Given the description of an element on the screen output the (x, y) to click on. 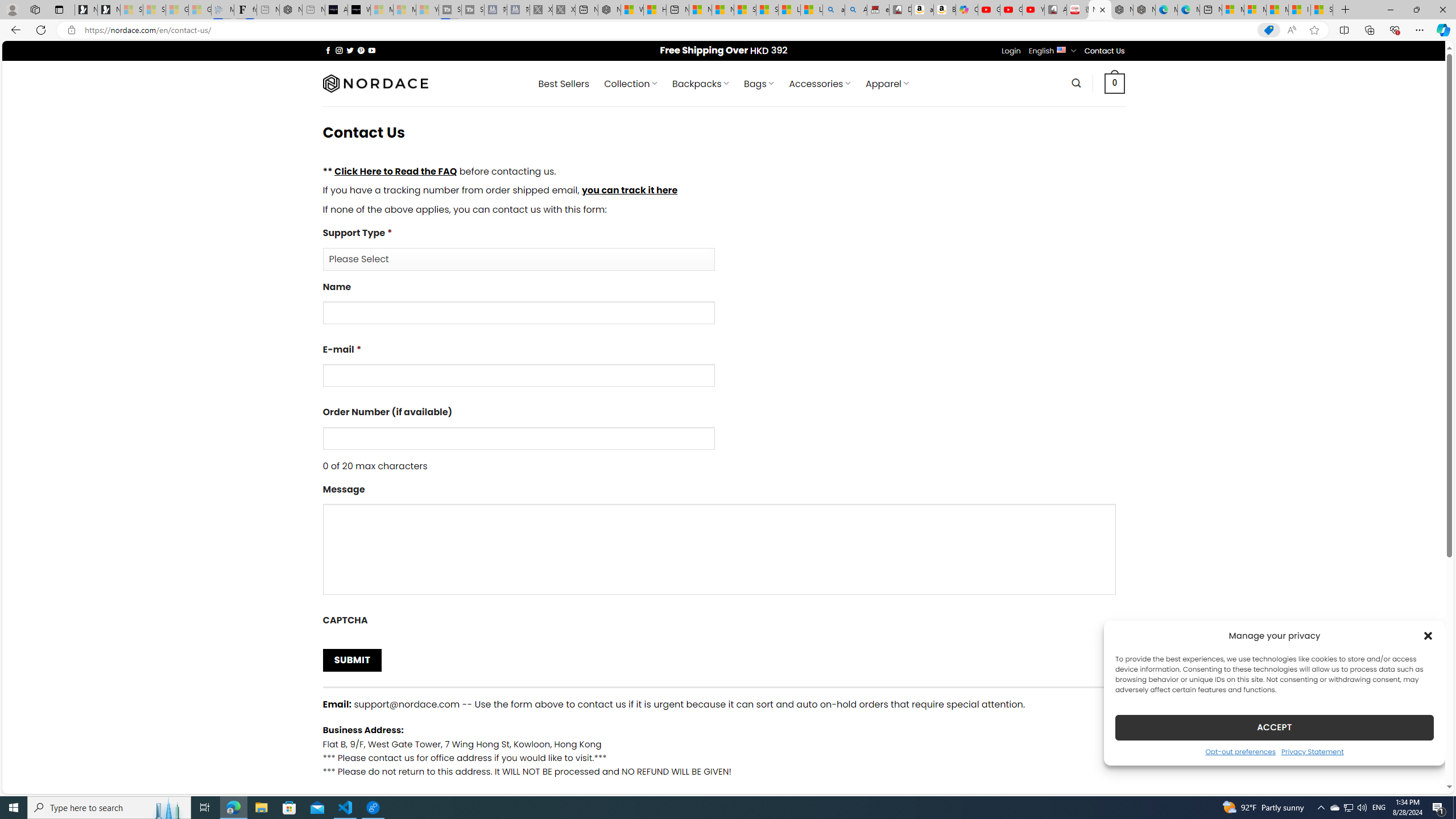
  0   (1115, 83)
Follow on Twitter (349, 49)
Nordace - Contact Us (1099, 9)
 0  (1115, 83)
AI Voice Changer for PC and Mac - Voice.ai (336, 9)
Amazon Echo Dot PNG - Search Images (856, 9)
